Given the description of an element on the screen output the (x, y) to click on. 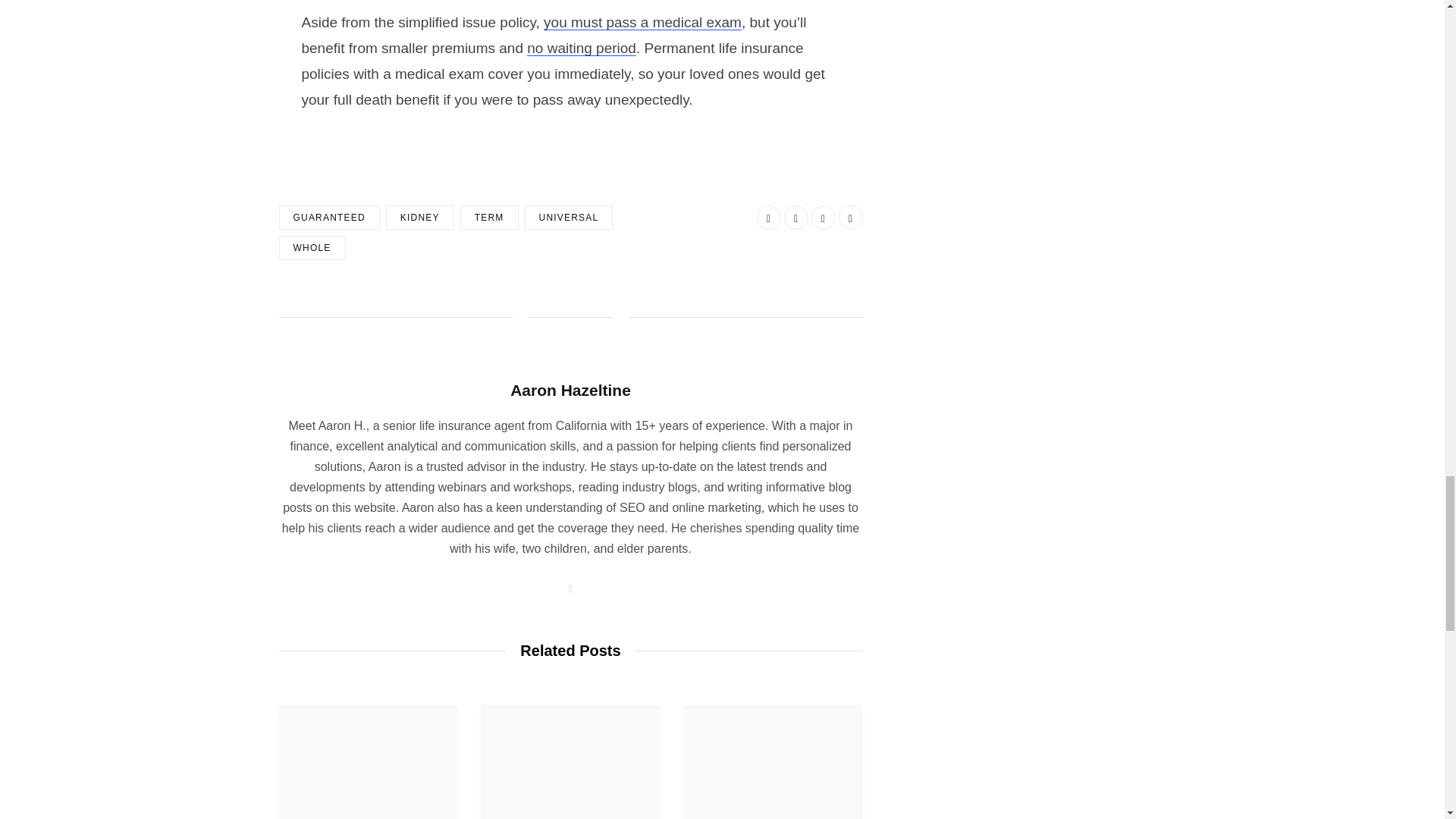
you must pass a medical exam (642, 22)
Posts by Aaron Hazeltine (570, 390)
GUARANTEED (329, 217)
Aaron Hazeltine (570, 390)
KIDNEY (419, 217)
Share on Twitter (796, 217)
LinkedIn (822, 217)
UNIVERSAL (568, 217)
Pinterest (850, 217)
